Given the description of an element on the screen output the (x, y) to click on. 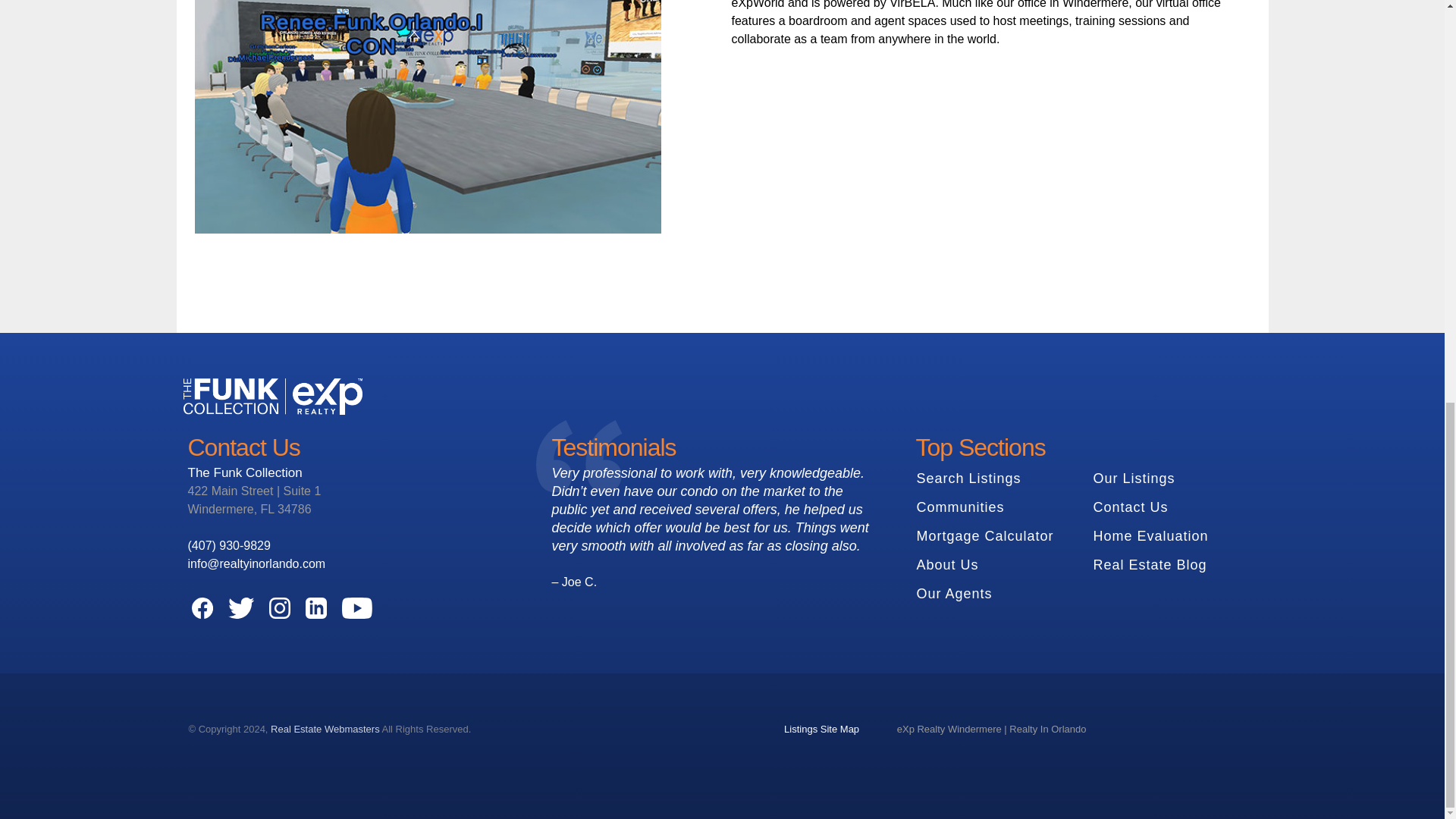
Instagram will open in a new window (279, 608)
Facebook will open in a new window (201, 608)
Twitter will open in a new window (240, 608)
Youtube will open in a new window (356, 608)
Site Logo (272, 396)
LinkedIn will open in a new window (315, 608)
